Given the description of an element on the screen output the (x, y) to click on. 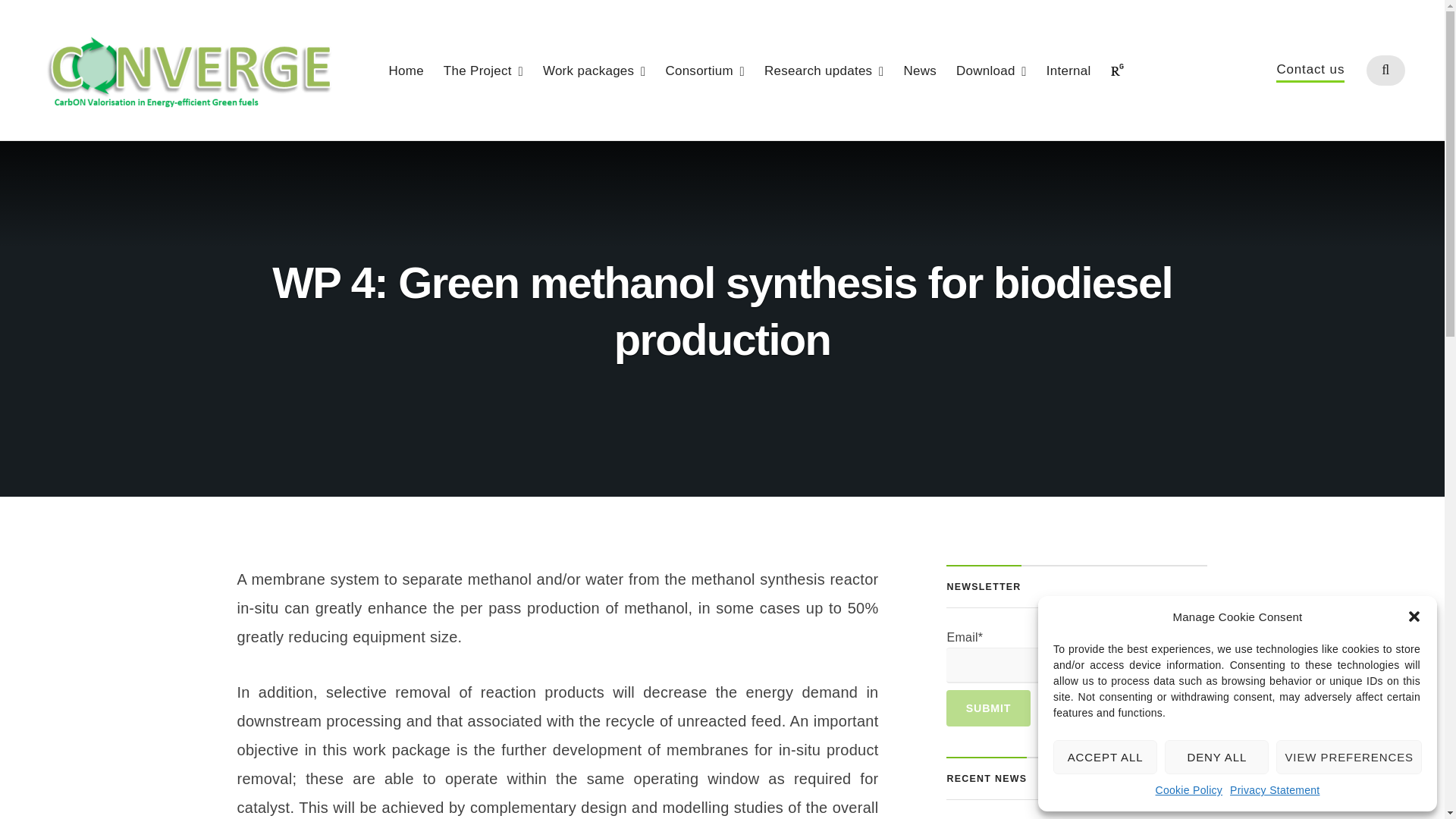
Research updates (823, 70)
ACCEPT ALL (1104, 756)
Submit (987, 708)
Work packages (594, 70)
The Project (483, 70)
Home (405, 70)
DENY ALL (1216, 756)
Privacy Statement (1274, 791)
Cookie Policy (1189, 791)
Consortium (704, 70)
VIEW PREFERENCES (1349, 756)
